Given the description of an element on the screen output the (x, y) to click on. 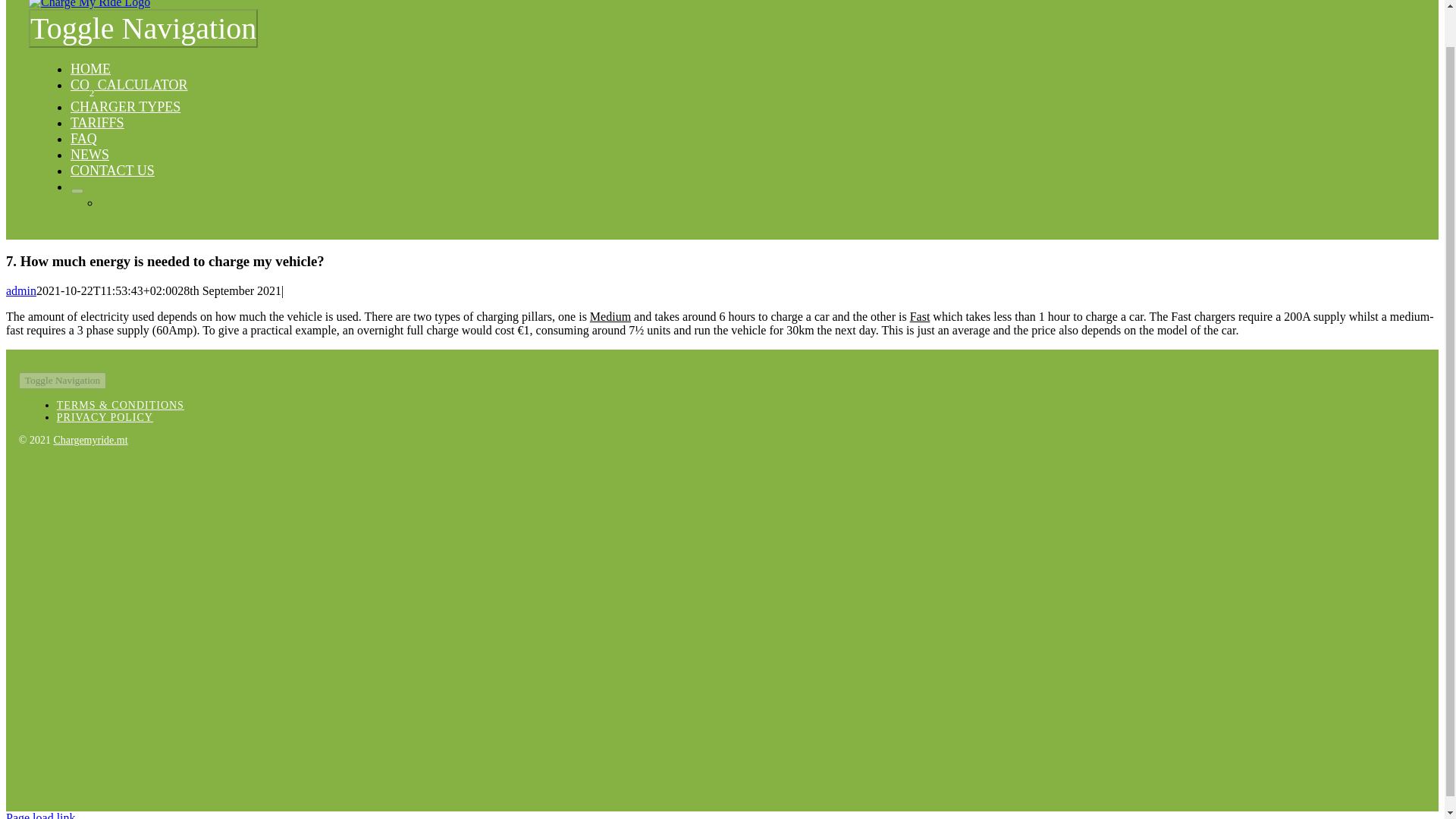
CHARGER TYPES (124, 106)
admin (20, 290)
Toggle Navigation (143, 28)
Toggle Navigation (62, 380)
Posts by admin (20, 290)
Chargemyride.mt (90, 439)
TARIFFS (96, 122)
CONTACT US (111, 170)
NEWS (89, 154)
FAQ (83, 138)
HOME (89, 68)
PRIVACY POLICY (104, 417)
eu-logos (265, 704)
CO2 CALCULATOR (128, 84)
